Given the description of an element on the screen output the (x, y) to click on. 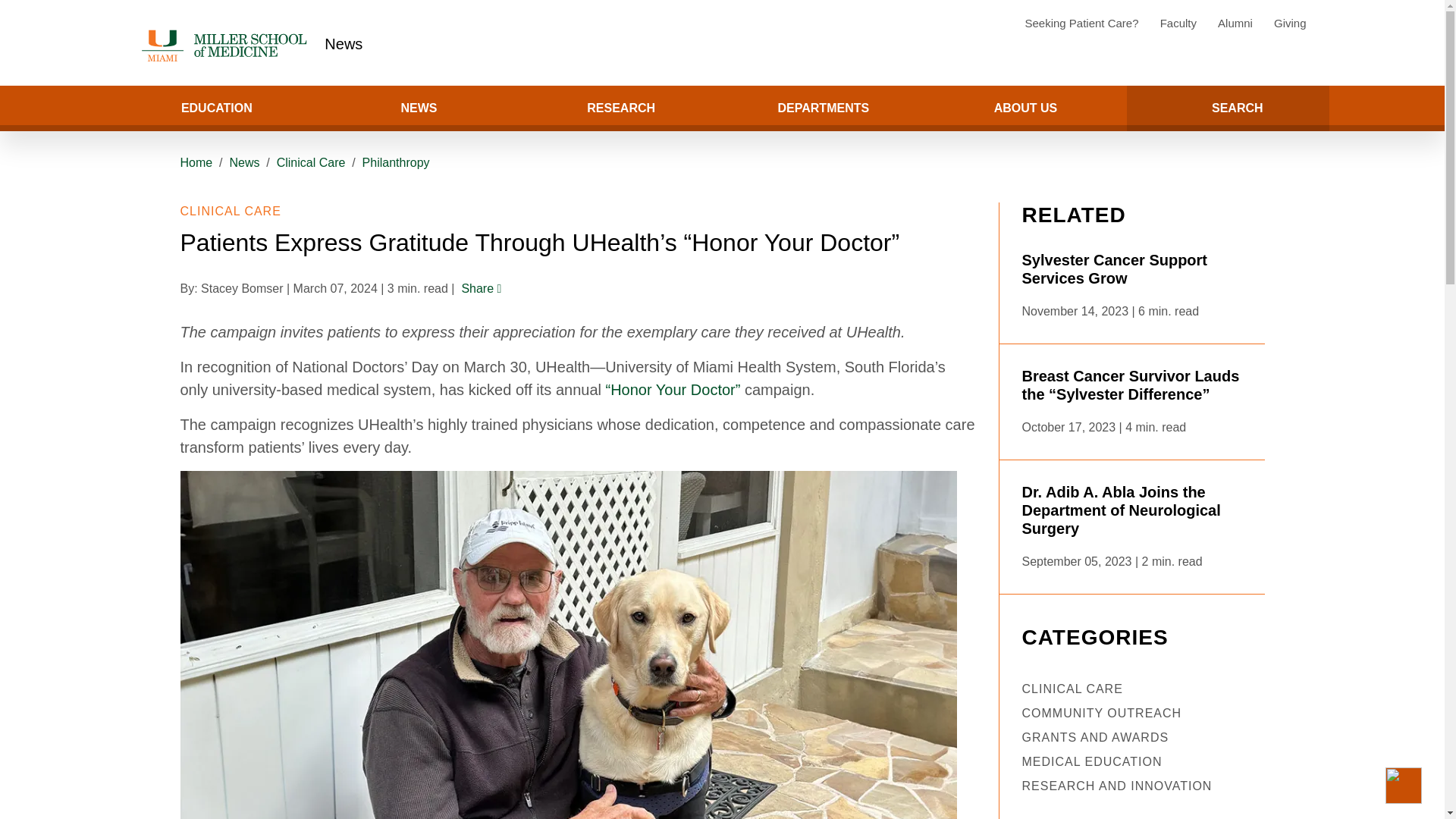
Search (57, 108)
RESEARCH (620, 108)
Miller School of Medicine (227, 45)
EDUCATION (216, 108)
News (343, 44)
NEWS (418, 108)
